Given the description of an element on the screen output the (x, y) to click on. 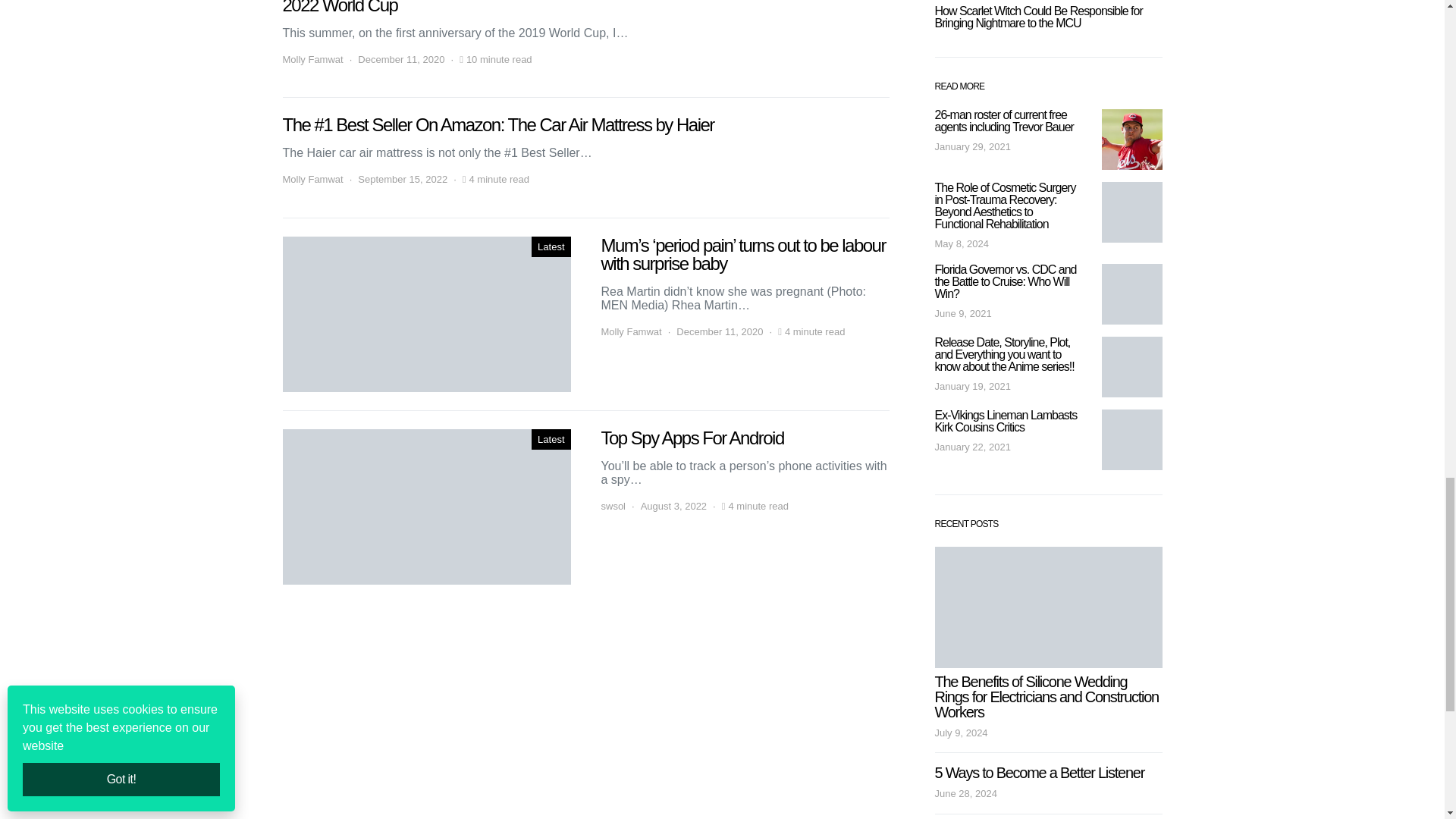
Latest (550, 439)
Top Spy Apps For Android (426, 506)
View all posts by Molly Famwat (312, 179)
swsol (612, 506)
View all posts by Molly Famwat (630, 331)
26-man roster of current free agents including Trevor Bauer (1130, 138)
View all posts by Molly Famwat (312, 58)
Molly Famwat (312, 179)
